Given the description of an element on the screen output the (x, y) to click on. 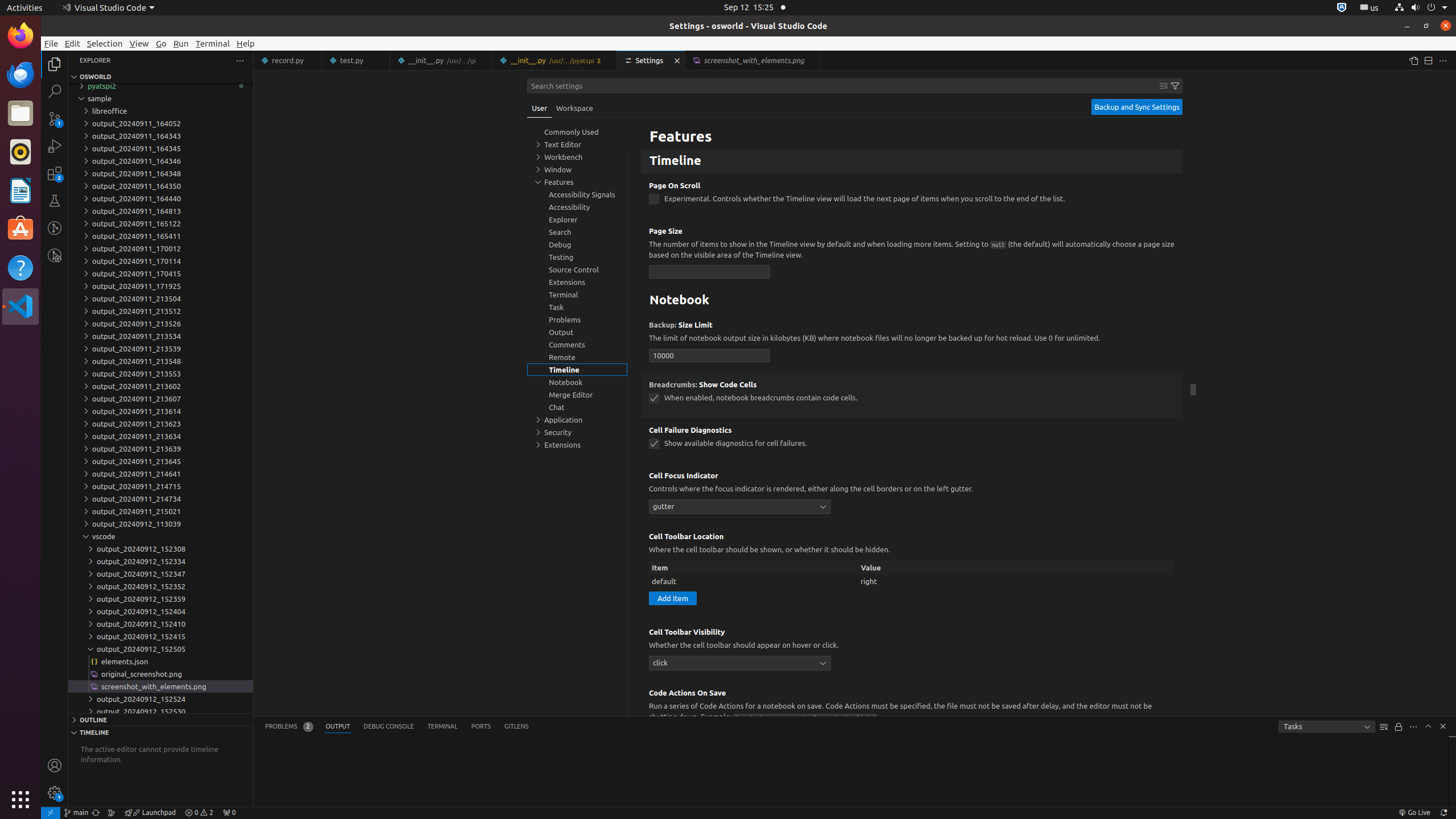
Problems, group Element type: tree-item (577, 319)
 Page Size. The number of items to show in the Timeline view by default and when loading more items. Setting to null (the default) will automatically choose a page size based on the visible area of the Timeline view.  Element type: tree-item (911, 253)
vscode Element type: tree-item (160, 536)
Hide Panel Element type: push-button (1442, 726)
